Given the description of an element on the screen output the (x, y) to click on. 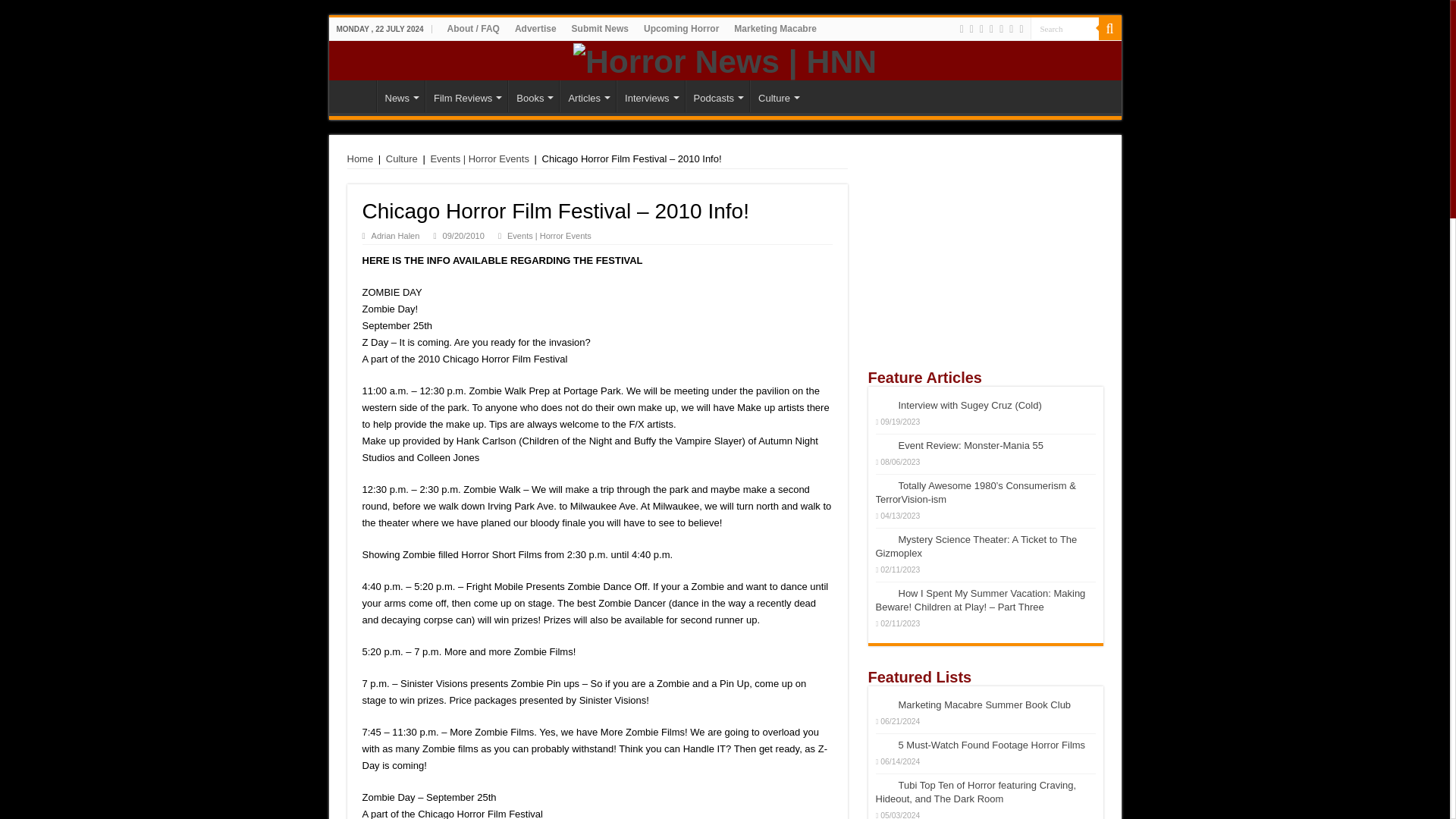
Advertise on HorrorNews.net (535, 28)
Submit News (600, 28)
HOME (355, 96)
Submit News to Horrornews.net (600, 28)
Rss (961, 29)
Upcoming Horror (681, 28)
News (400, 96)
Search (1109, 28)
Film Reviews (465, 96)
Search (1063, 28)
Advertise (535, 28)
Search (1063, 28)
Marketing Macabre (775, 28)
Search (1063, 28)
